Given the description of an element on the screen output the (x, y) to click on. 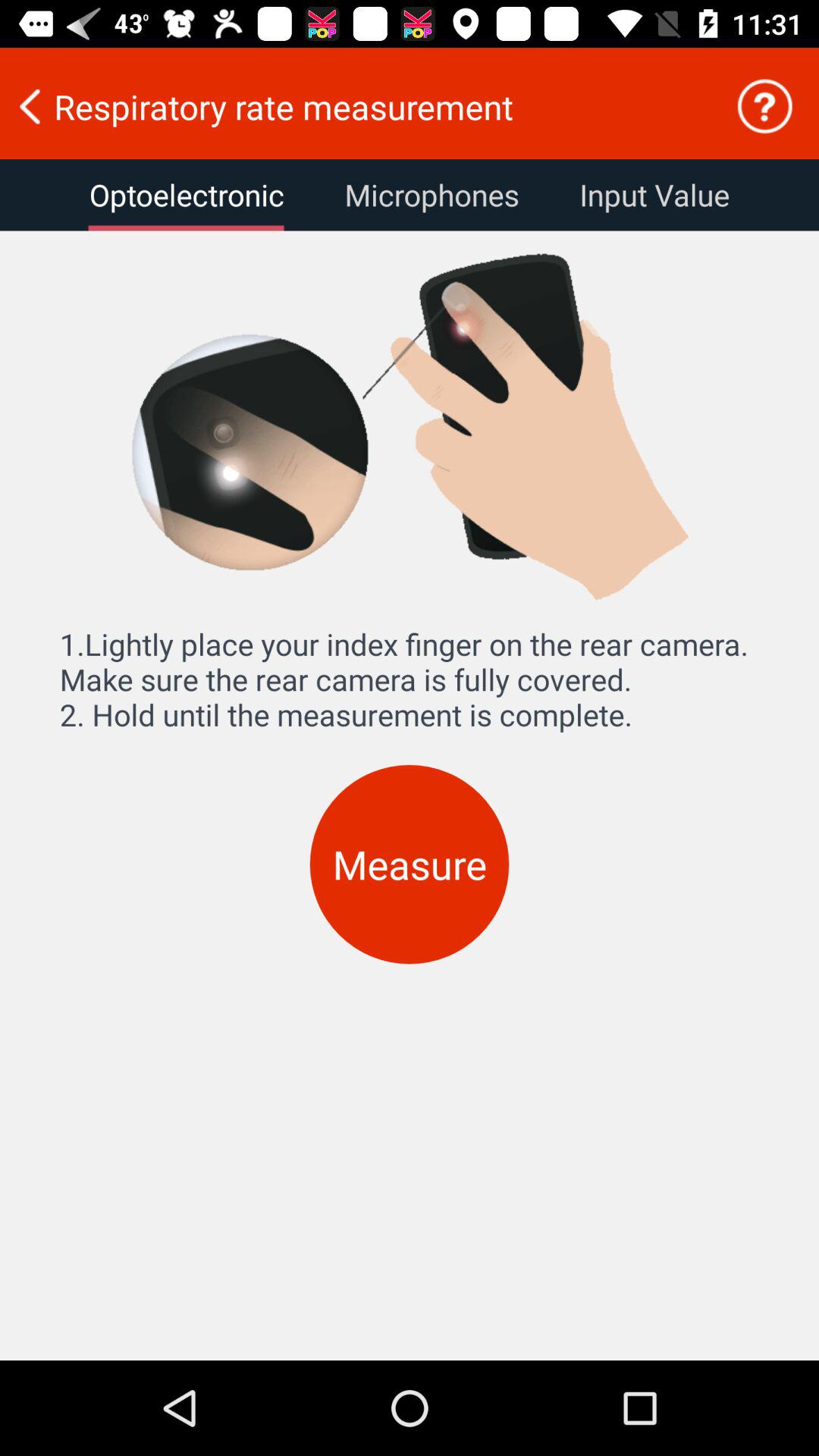
launch item below respiratory rate measurement icon (654, 194)
